Given the description of an element on the screen output the (x, y) to click on. 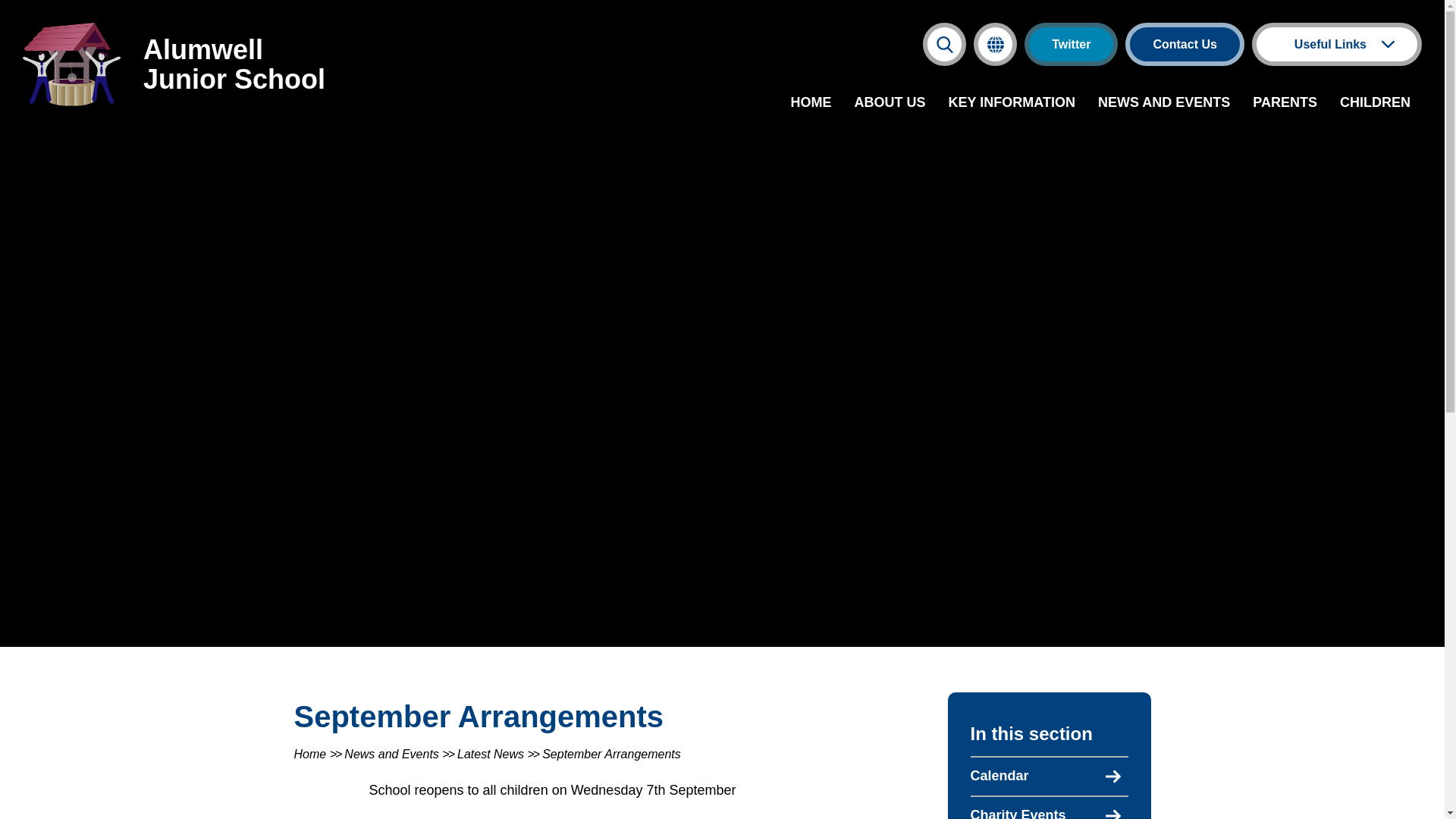
Contact Us (1184, 44)
KEY INFORMATION (1012, 103)
Twitter (1071, 44)
ABOUT US (890, 103)
HOME (810, 103)
Home Page (71, 64)
